Given the description of an element on the screen output the (x, y) to click on. 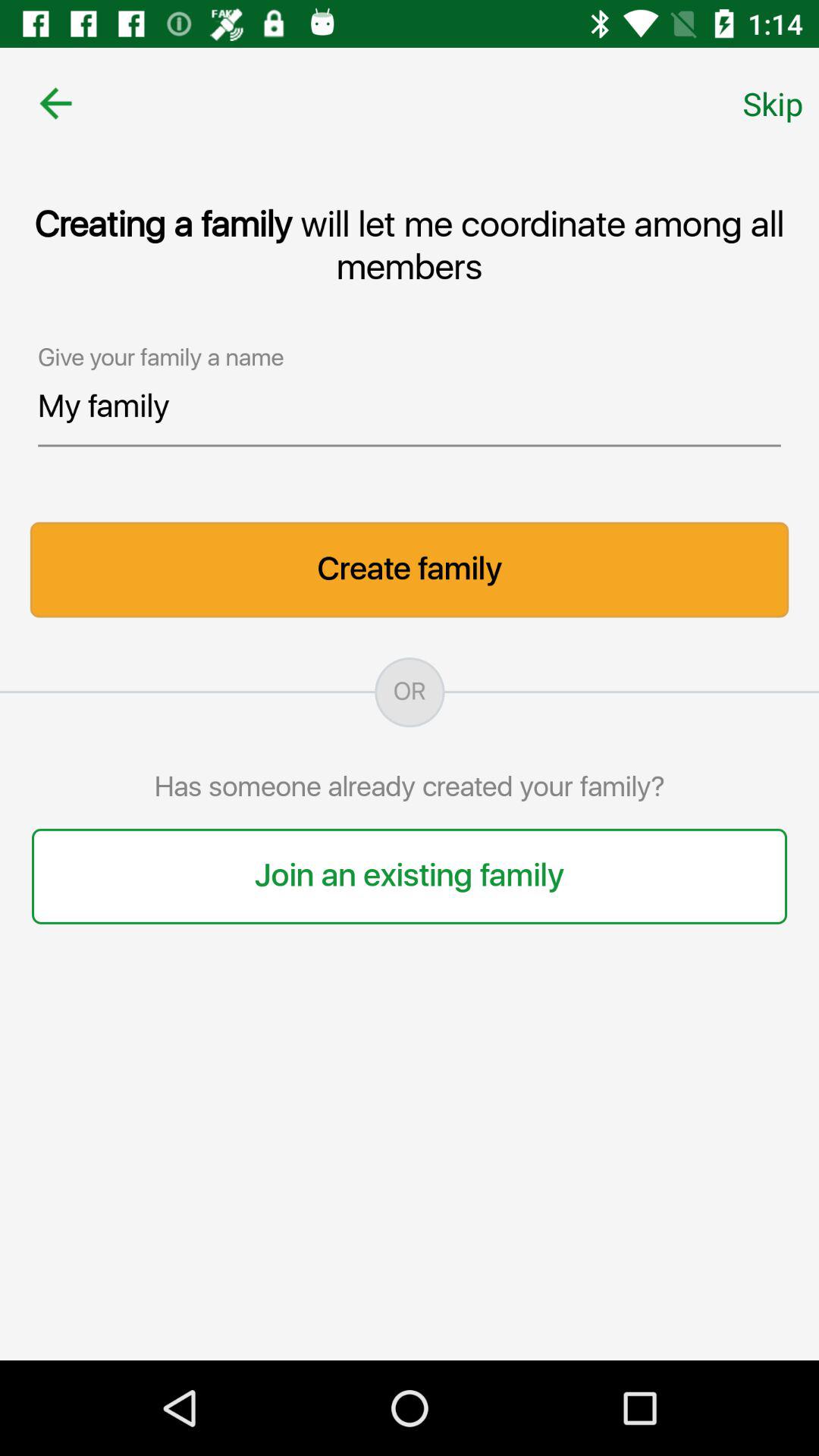
tap the icon above has someone already icon (409, 692)
